Given the description of an element on the screen output the (x, y) to click on. 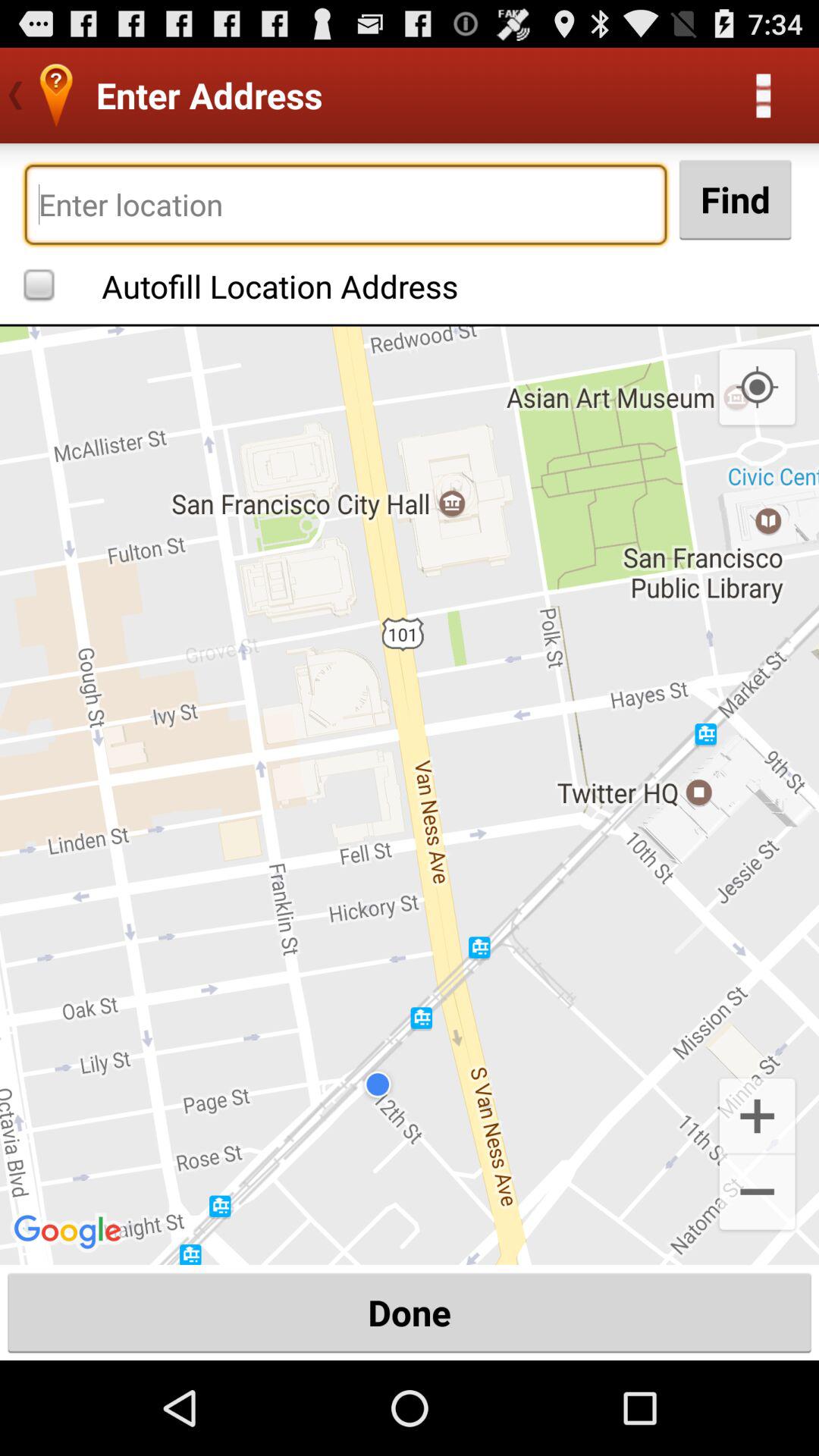
turn on the app to the right of the enter address icon (763, 95)
